Given the description of an element on the screen output the (x, y) to click on. 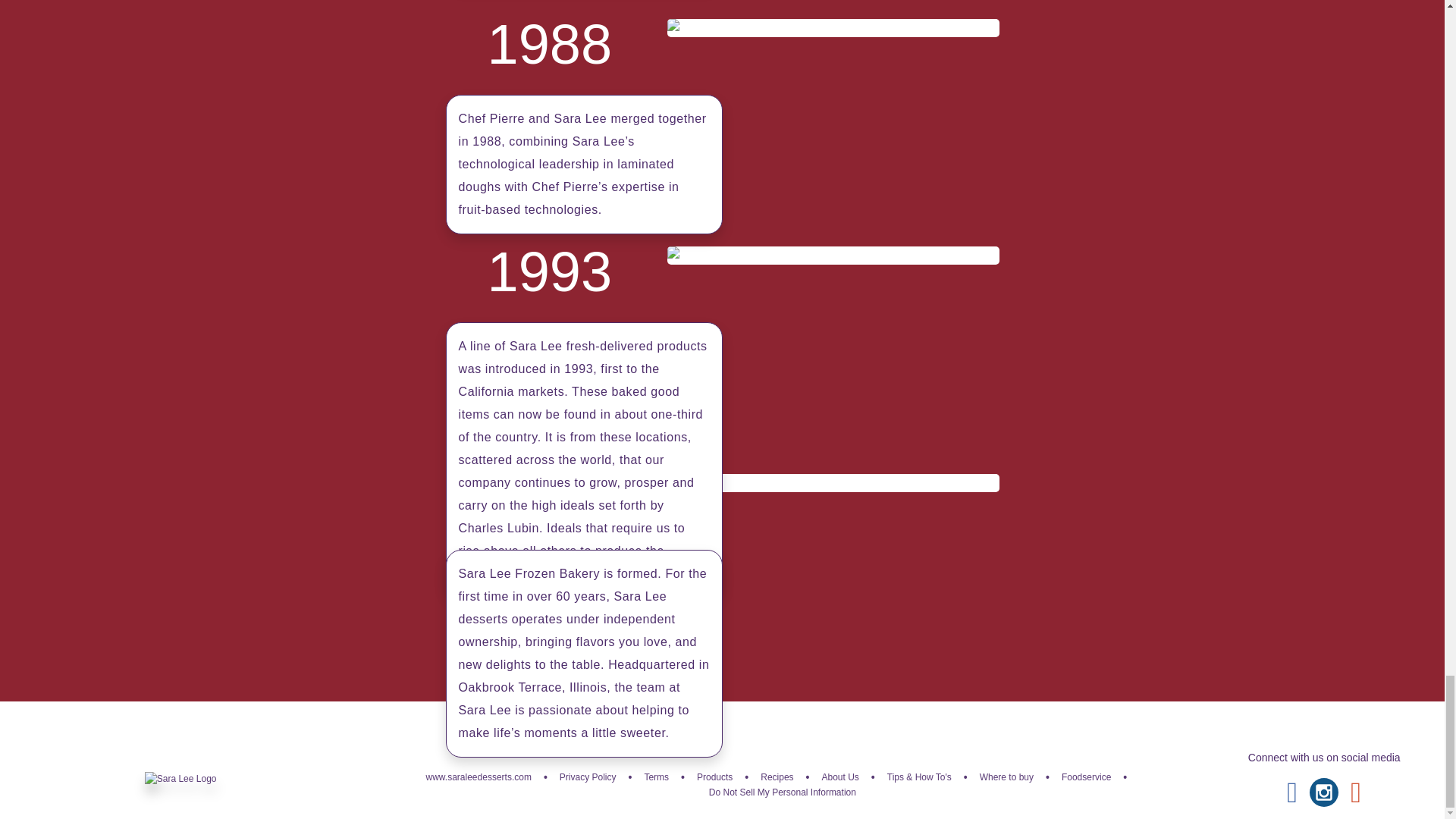
Terms (655, 776)
Products (714, 776)
Recipes (776, 776)
pinterest (1356, 792)
facebook (1292, 792)
www.saraleedesserts.com (478, 776)
instagram (1323, 792)
Privacy Policy (587, 776)
